Given the description of an element on the screen output the (x, y) to click on. 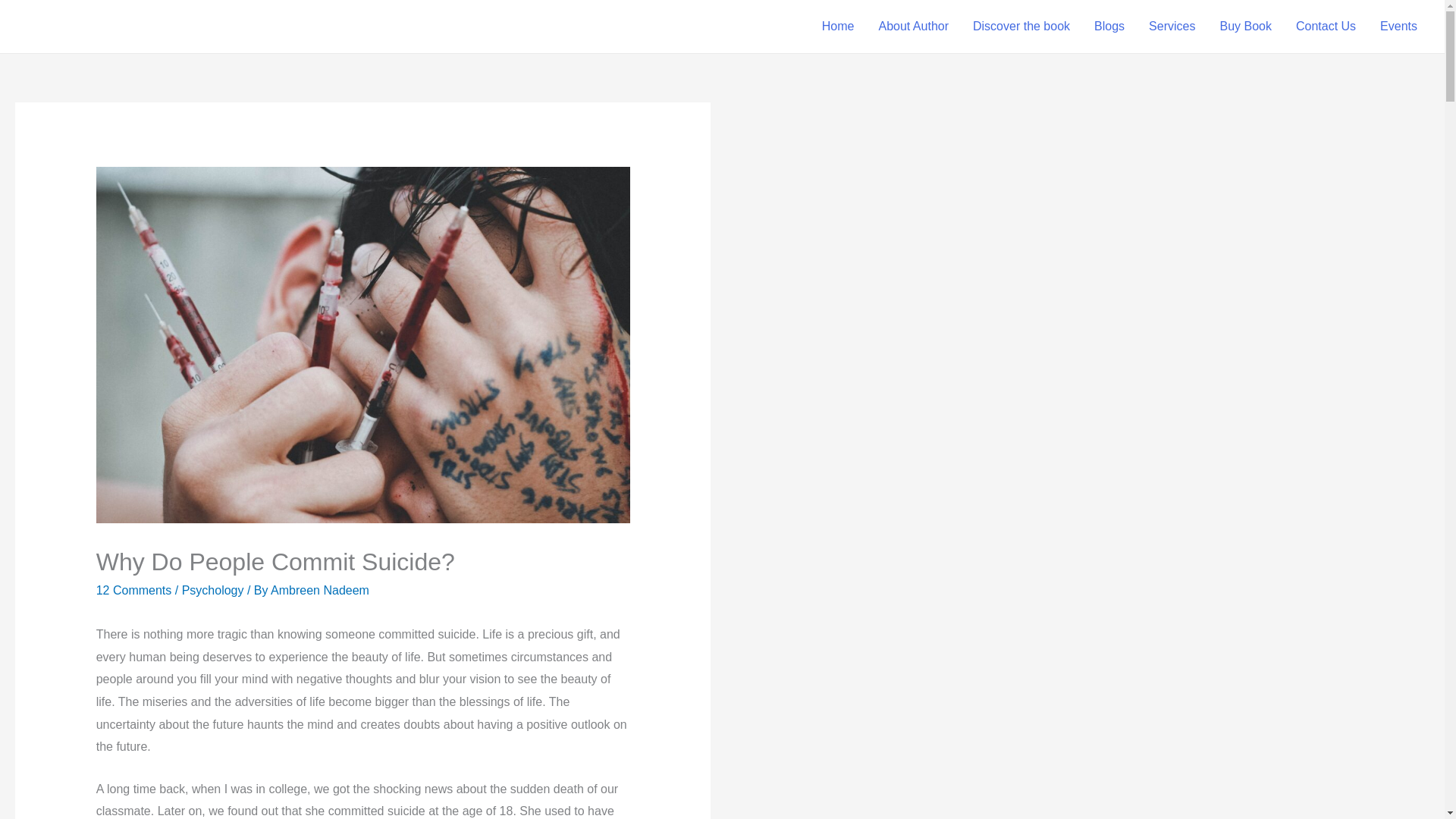
About Author (913, 26)
12 Comments (133, 590)
View all posts by Ambreen Nadeem (319, 590)
Discover the book (1020, 26)
Contact Us (1326, 26)
Home (837, 26)
Psychology (213, 590)
Events (1398, 26)
Buy Book (1244, 26)
Blogs (1109, 26)
Services (1172, 26)
Ambreen Nadeem (319, 590)
